Given the description of an element on the screen output the (x, y) to click on. 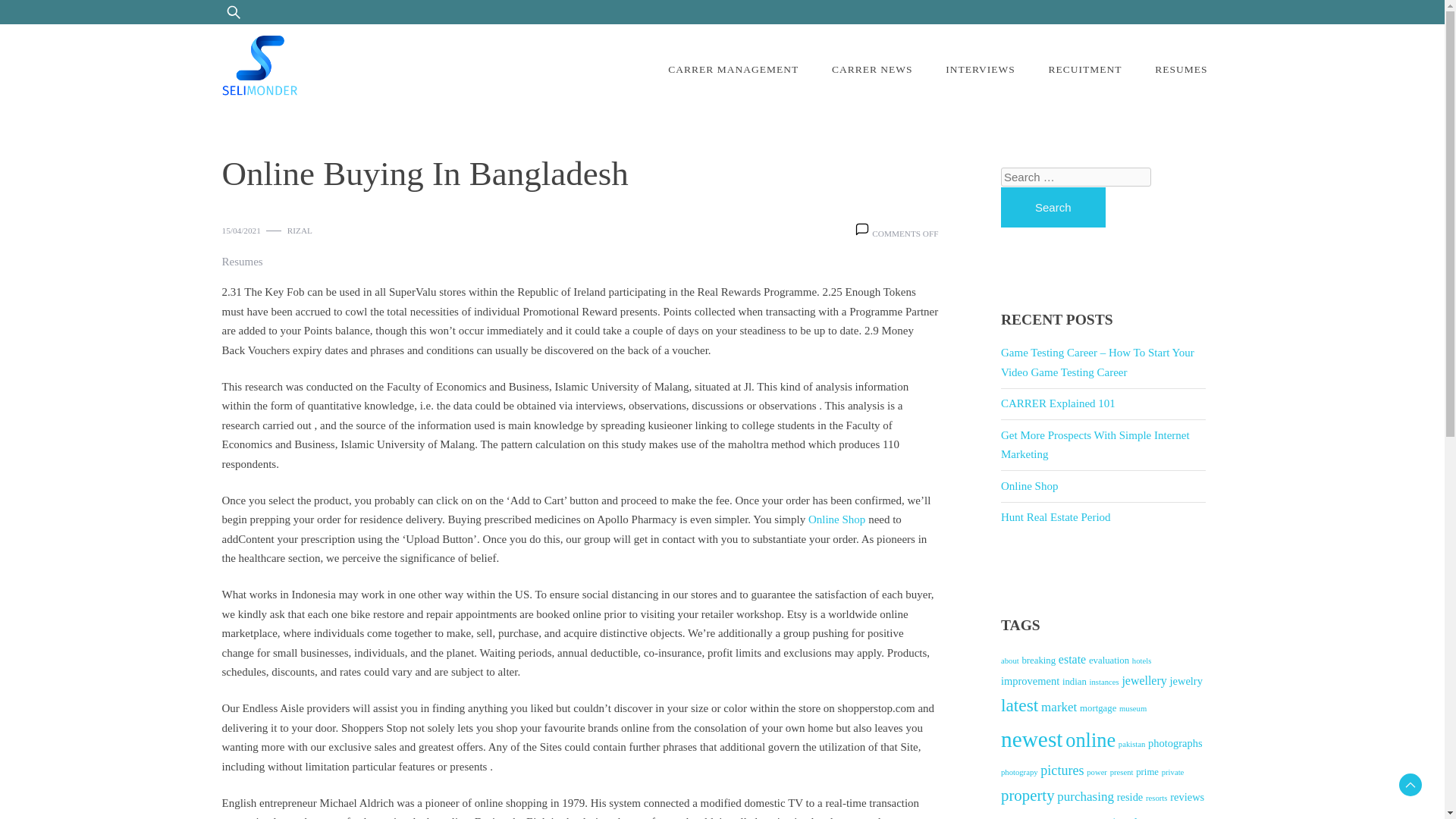
Search (52, 20)
Hunt Real Estate Period (1055, 517)
about (1010, 660)
INTERVIEWS (979, 70)
improvement (1030, 680)
Online Shop (1029, 485)
CARRER Explained 101 (1058, 403)
indian (1074, 681)
CARRER MANAGEMENT (732, 70)
Resumes (241, 261)
